Given the description of an element on the screen output the (x, y) to click on. 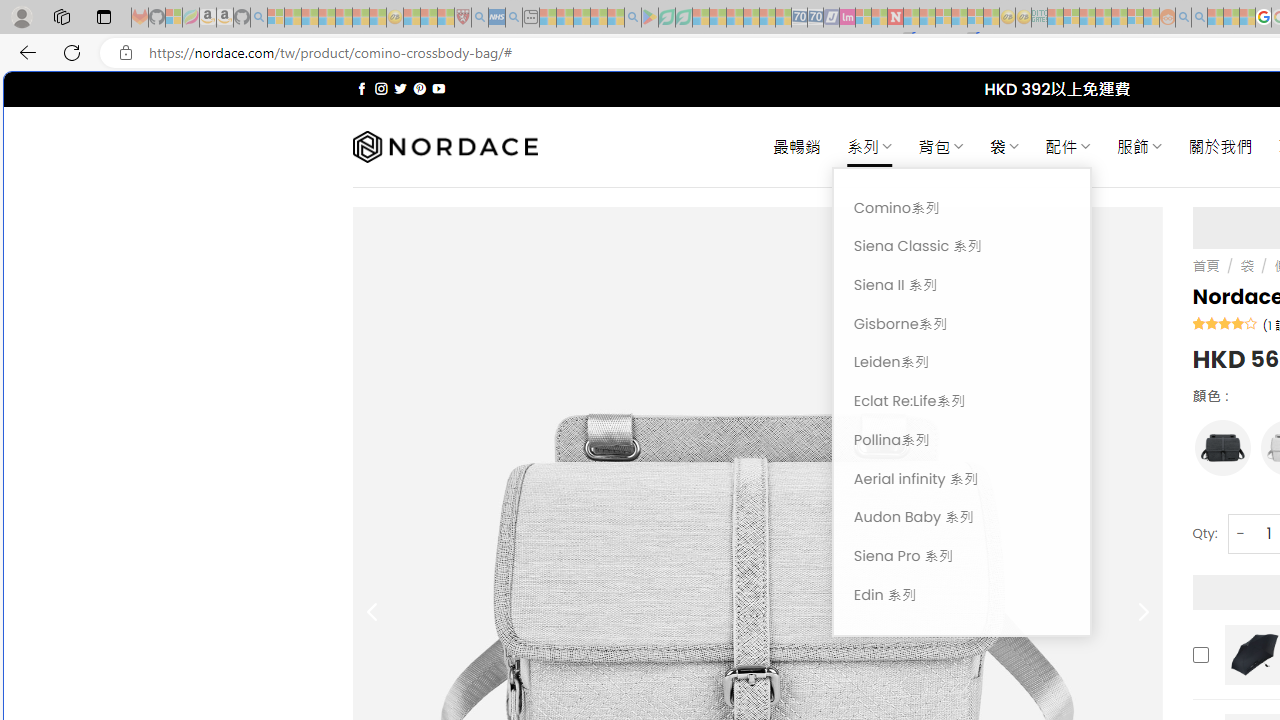
New tab - Sleeping (530, 17)
Cheap Hotels - Save70.com - Sleeping (815, 17)
New Report Confirms 2023 Was Record Hot | Watch - Sleeping (343, 17)
MSNBC - MSN - Sleeping (1055, 17)
Microsoft-Report a Concern to Bing - Sleeping (173, 17)
The Weather Channel - MSN - Sleeping (309, 17)
